Given the description of an element on the screen output the (x, y) to click on. 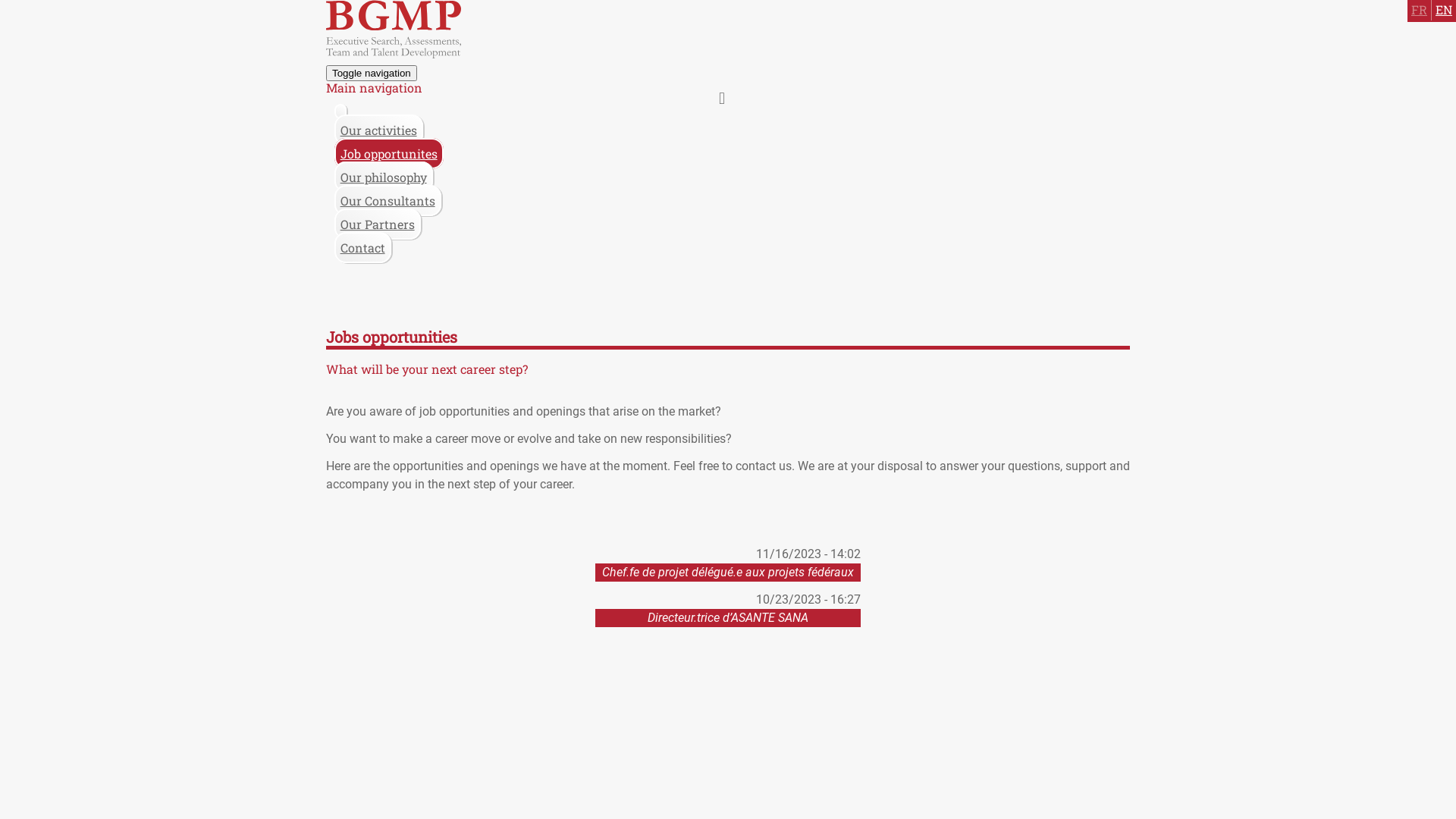
Our Partners Element type: text (377, 223)
Our Consultants Element type: text (387, 200)
Skip to main content Element type: text (0, 0)
Toggle navigation Element type: text (371, 73)
FR Element type: text (1419, 9)
Home Element type: hover (393, 53)
Contact Element type: text (362, 247)
Our activities Element type: text (378, 129)
Our philosophy Element type: text (383, 176)
Job opportunites Element type: text (388, 153)
EN Element type: text (1443, 9)
Home Element type: text (340, 111)
